Given the description of an element on the screen output the (x, y) to click on. 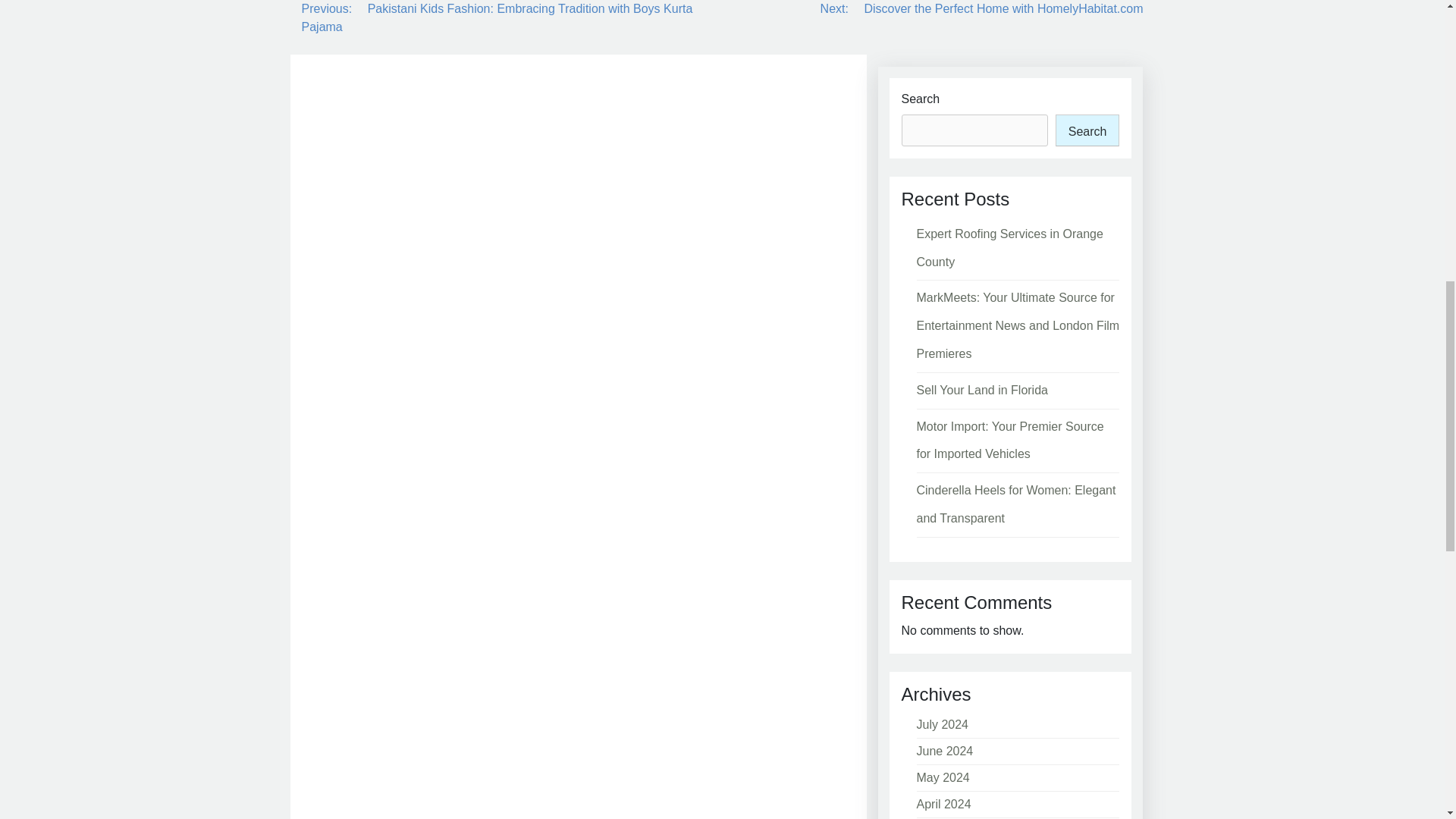
Sell Your Land in Florida (980, 390)
June 2024 (943, 750)
Next: Discover the Perfect Home with HomelyHabitat.com (981, 8)
Motor Import: Your Premier Source for Imported Vehicles (1009, 440)
Search (1087, 130)
Expert Roofing Services in Orange County (1008, 247)
May 2024 (942, 777)
April 2024 (943, 803)
July 2024 (941, 724)
Cinderella Heels for Women: Elegant and Transparent (1015, 504)
